Given the description of an element on the screen output the (x, y) to click on. 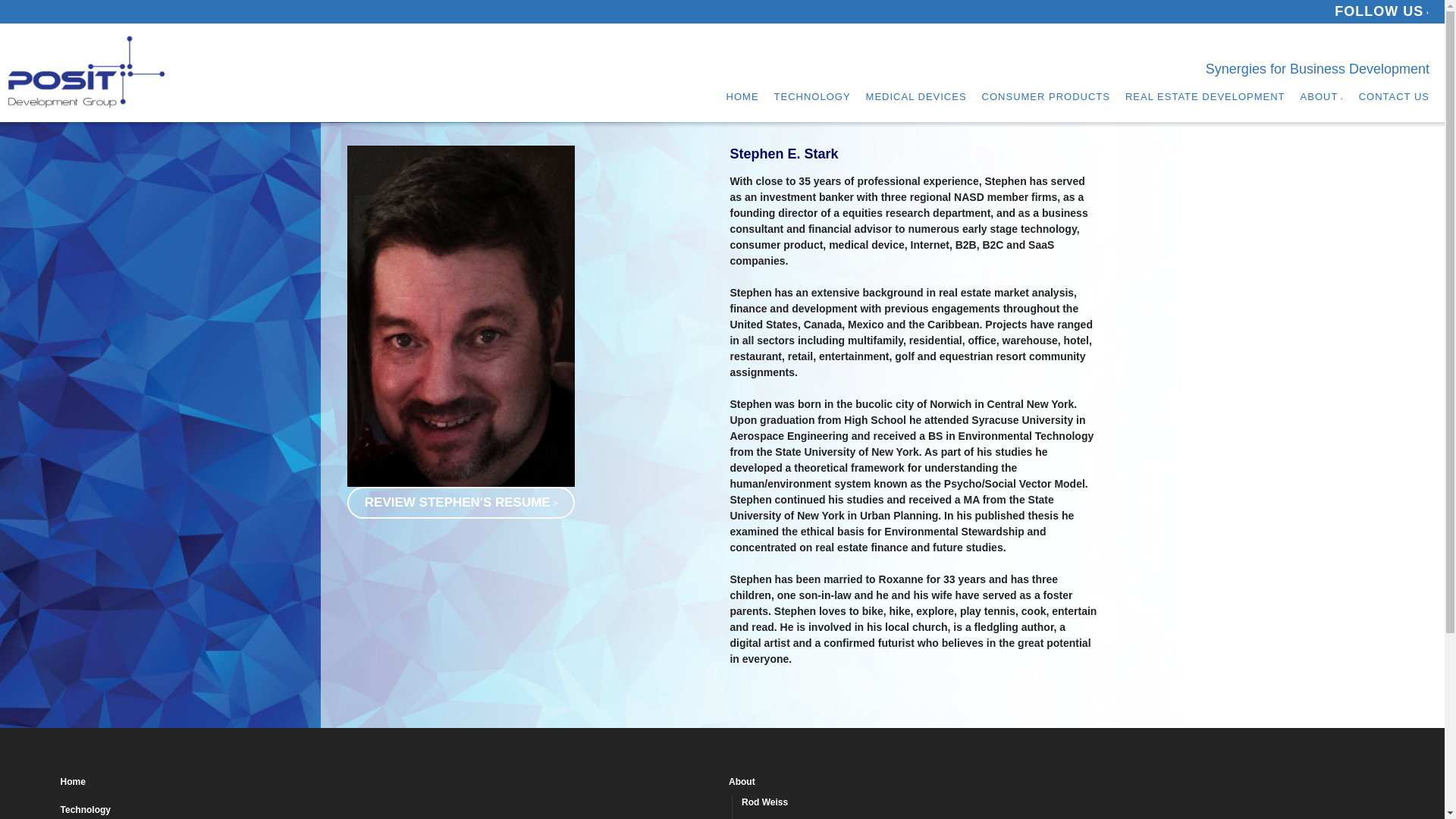
HOME (742, 96)
MEDICAL DEVICES (916, 96)
CONSUMER PRODUCTS (1045, 96)
Home (388, 783)
REVIEW STEPHEN'S RESUME (461, 502)
CONTACT US (1393, 96)
REAL ESTATE DEVELOPMENT (1205, 96)
TECHNOLOGY (812, 96)
Rod Weiss (1062, 803)
Technology (388, 809)
About (1056, 783)
